Given the description of an element on the screen output the (x, y) to click on. 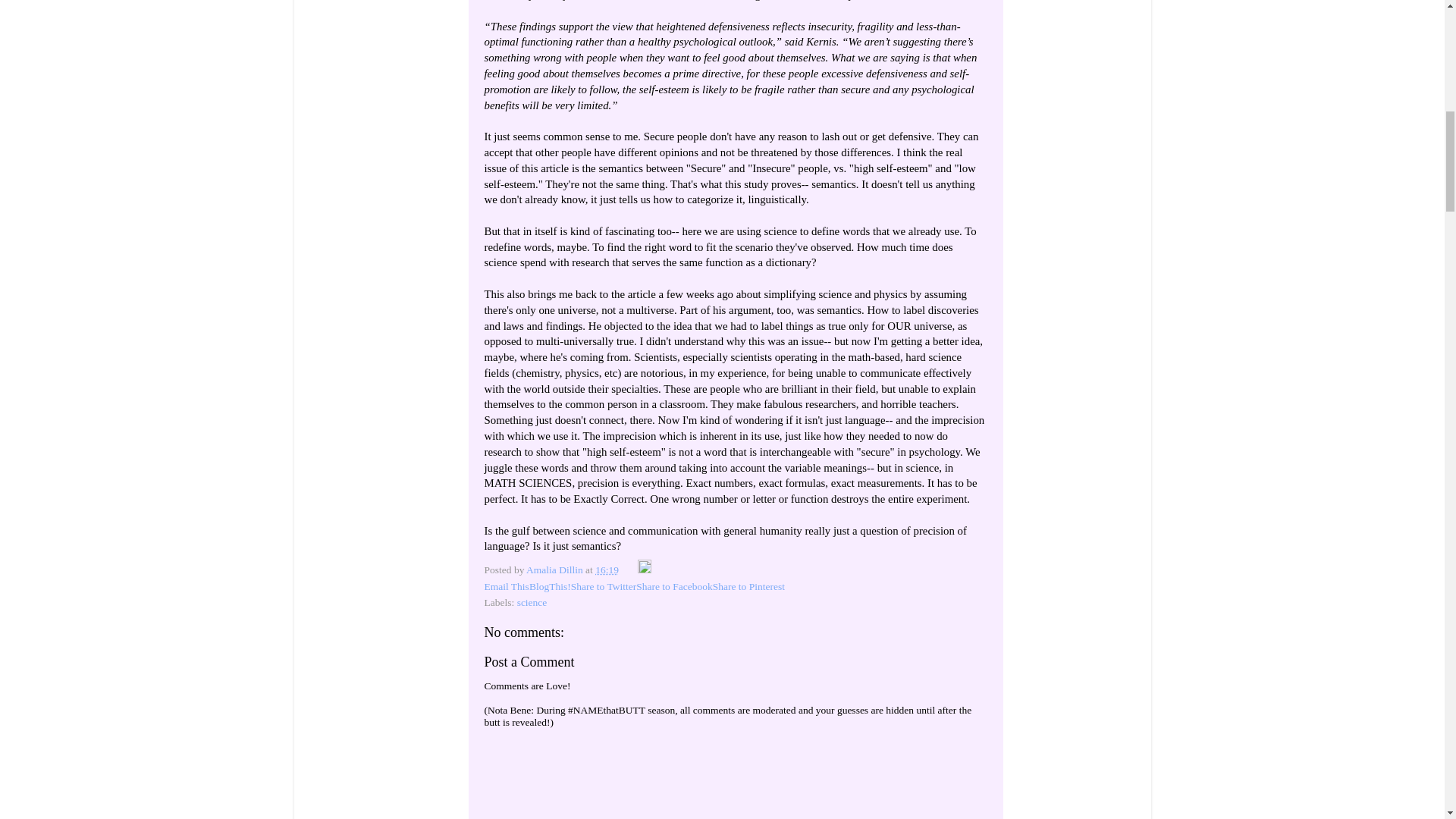
Share to Pinterest (748, 586)
Email This (505, 586)
Share to Facebook (673, 586)
Email Post (629, 569)
Share to Twitter (603, 586)
permanent link (606, 569)
Amalia Dillin (555, 569)
BlogThis! (549, 586)
author profile (555, 569)
BlogThis! (549, 586)
Edit Post (643, 569)
Email This (505, 586)
Share to Facebook (673, 586)
Share to Twitter (603, 586)
16:19 (606, 569)
